Given the description of an element on the screen output the (x, y) to click on. 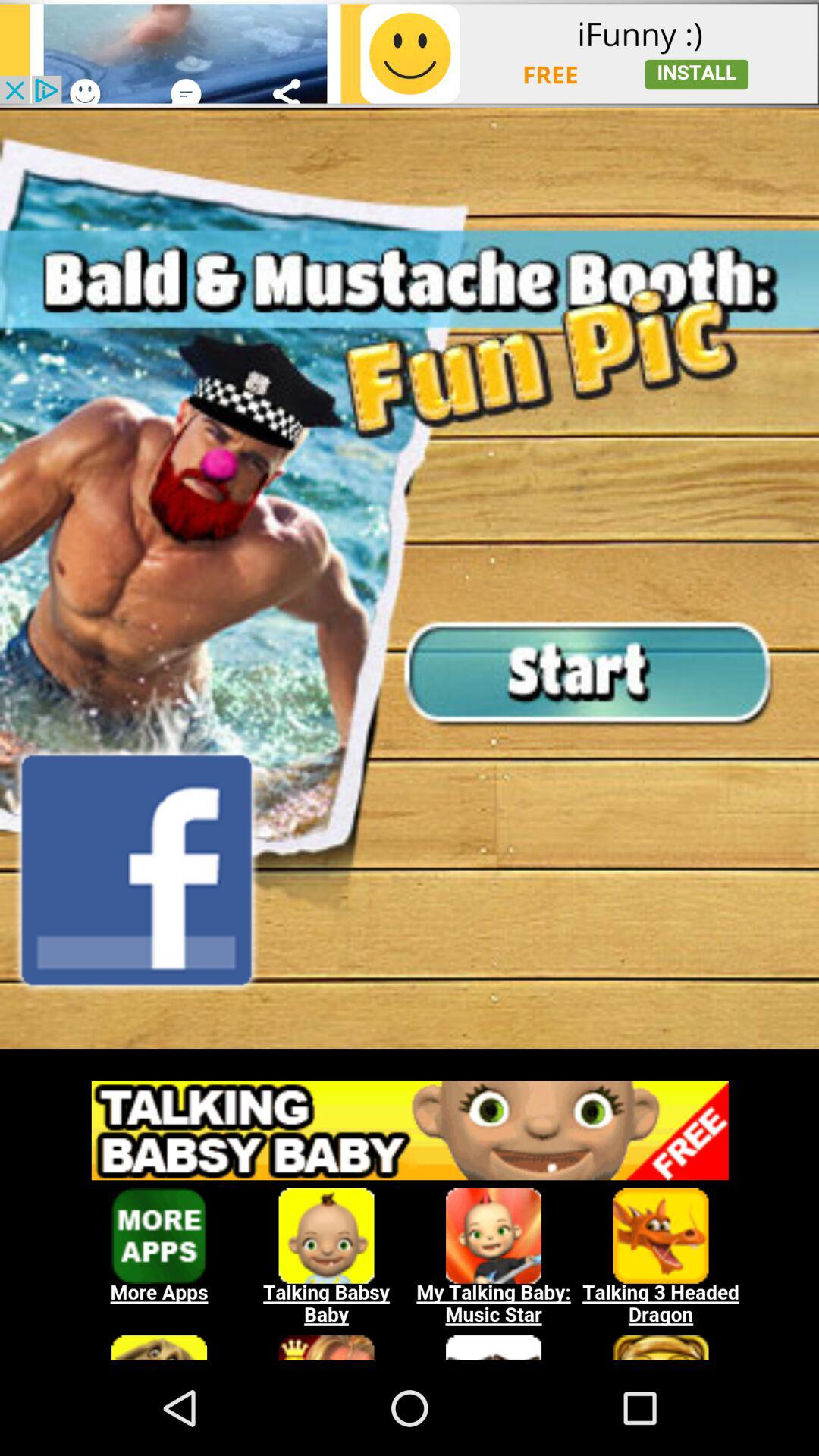
start the app (409, 577)
